Given the description of an element on the screen output the (x, y) to click on. 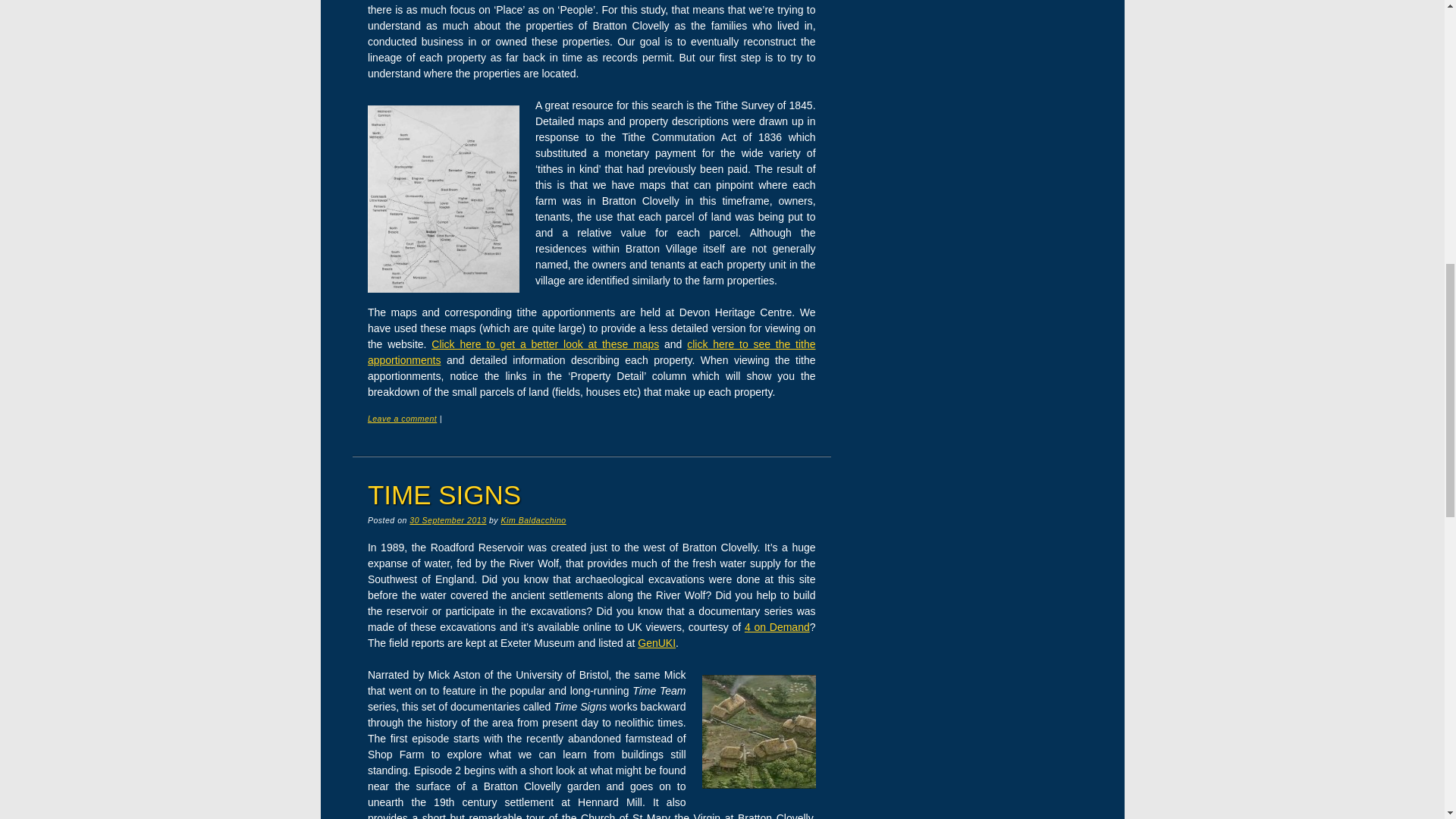
1845 Tithe Apportionment (591, 352)
Permalink to Time Signs (444, 494)
Maps (544, 344)
